Given the description of an element on the screen output the (x, y) to click on. 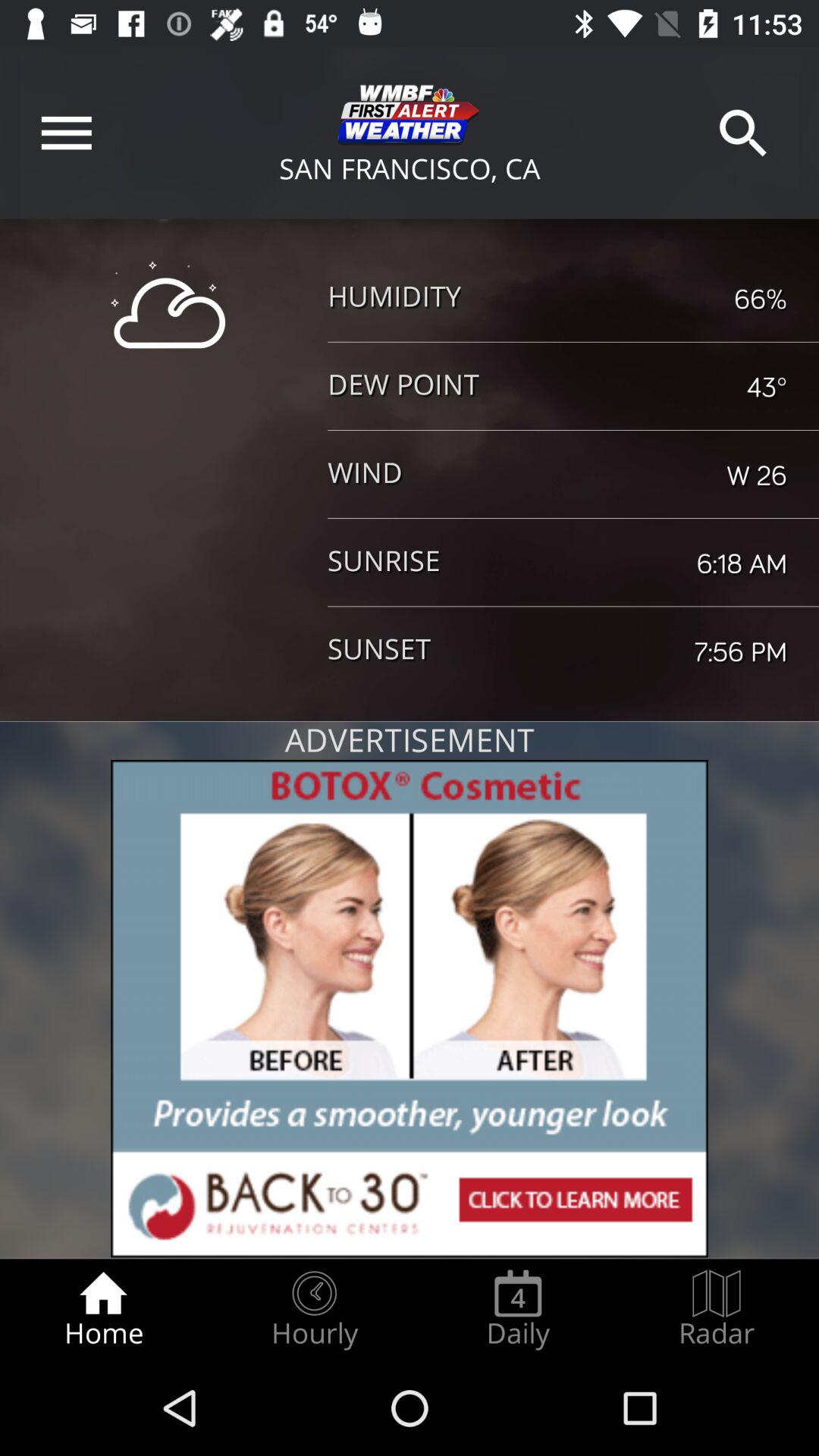
turn on item to the right of hourly item (518, 1309)
